Given the description of an element on the screen output the (x, y) to click on. 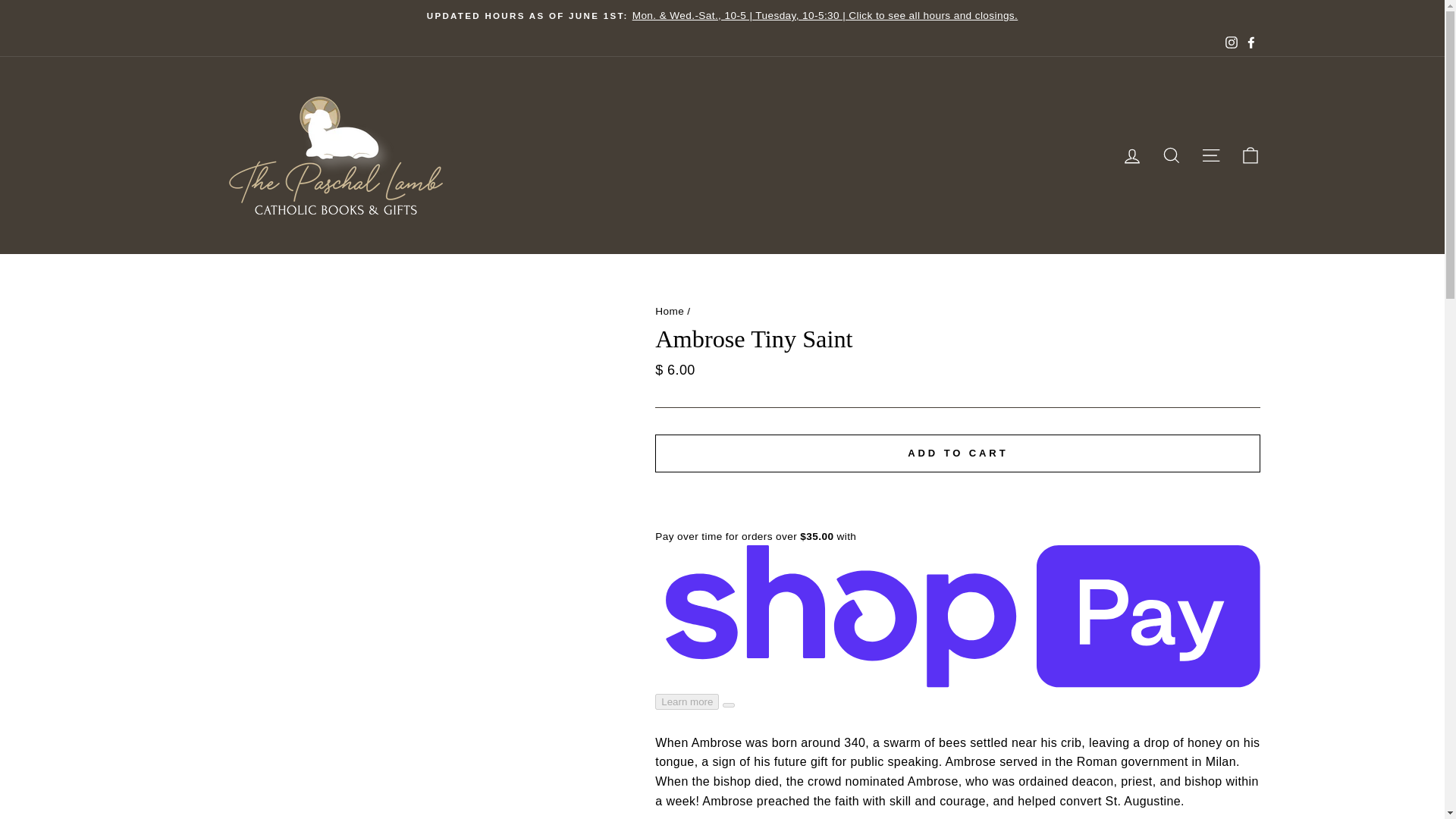
Facebook (1250, 43)
The Paschal Lamb on Facebook (1250, 43)
SEARCH (1171, 154)
LOG IN (1131, 154)
The Paschal Lamb on Instagram (1230, 43)
SITE NAVIGATION (1210, 154)
Back to the frontpage (669, 310)
Home (669, 310)
CART (1249, 154)
Instagram (1230, 43)
ADD TO CART (957, 453)
